Given the description of an element on the screen output the (x, y) to click on. 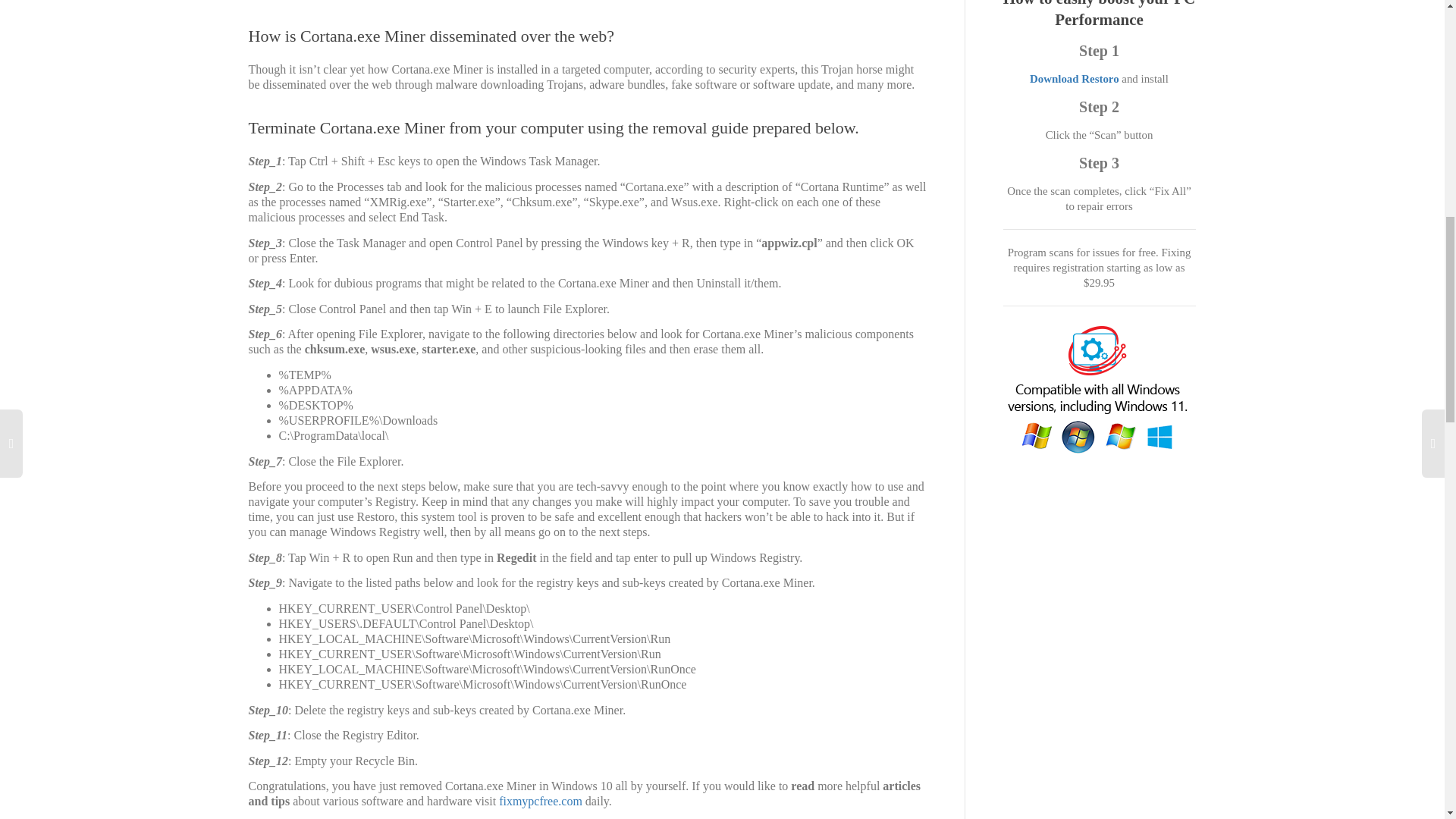
fixmypcfree.com (540, 800)
